Given the description of an element on the screen output the (x, y) to click on. 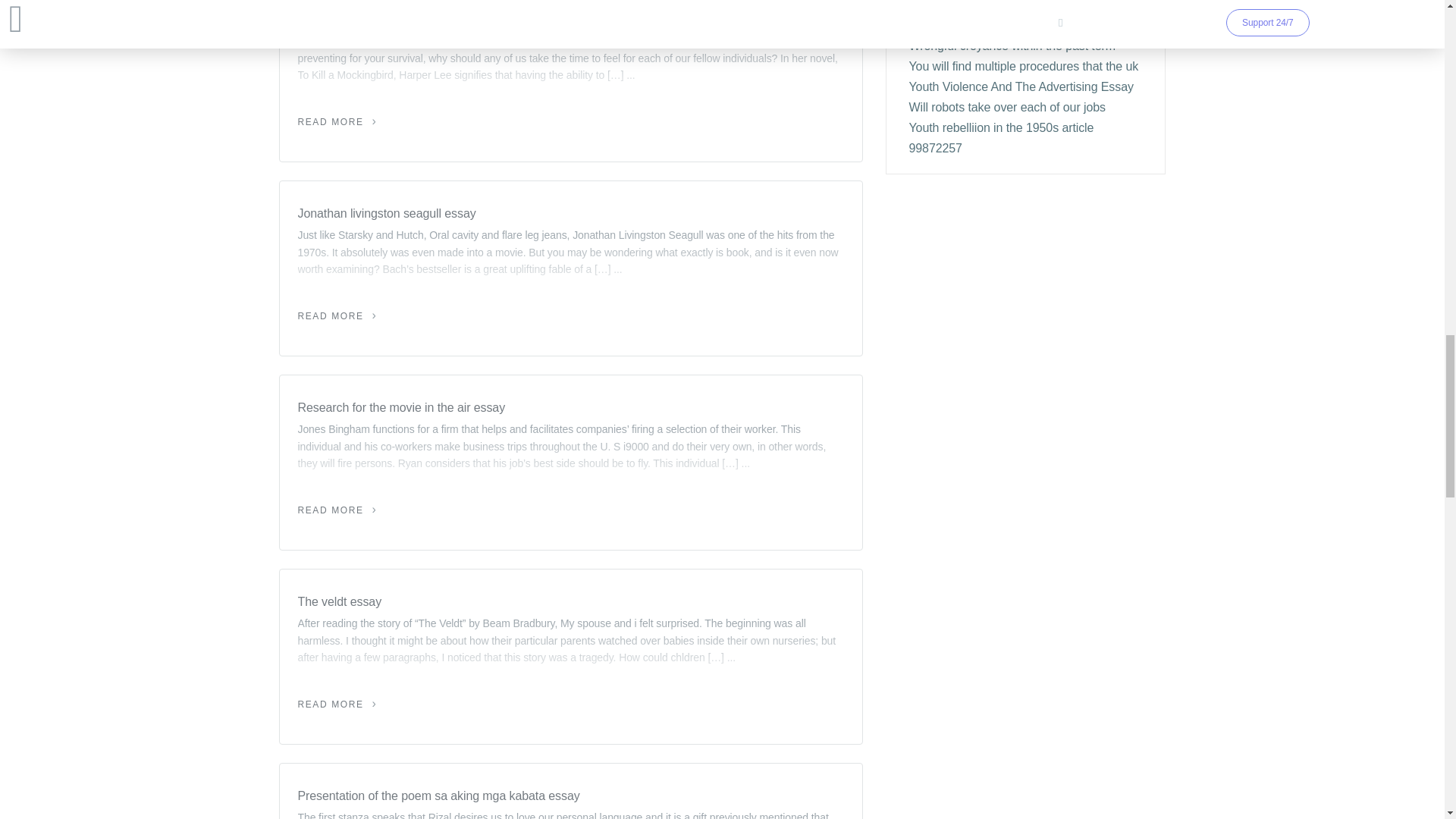
Jonathan livingston seagull essay (570, 213)
READ MORE (337, 316)
READ MORE (337, 122)
Sympathy in to eliminate a mockingbird essay (570, 19)
Presentation of the poem sa aking mga kabata essay (570, 795)
The veldt essay (570, 601)
READ MORE (337, 704)
Research for the movie in the air essay (570, 407)
READ MORE (337, 510)
